Given the description of an element on the screen output the (x, y) to click on. 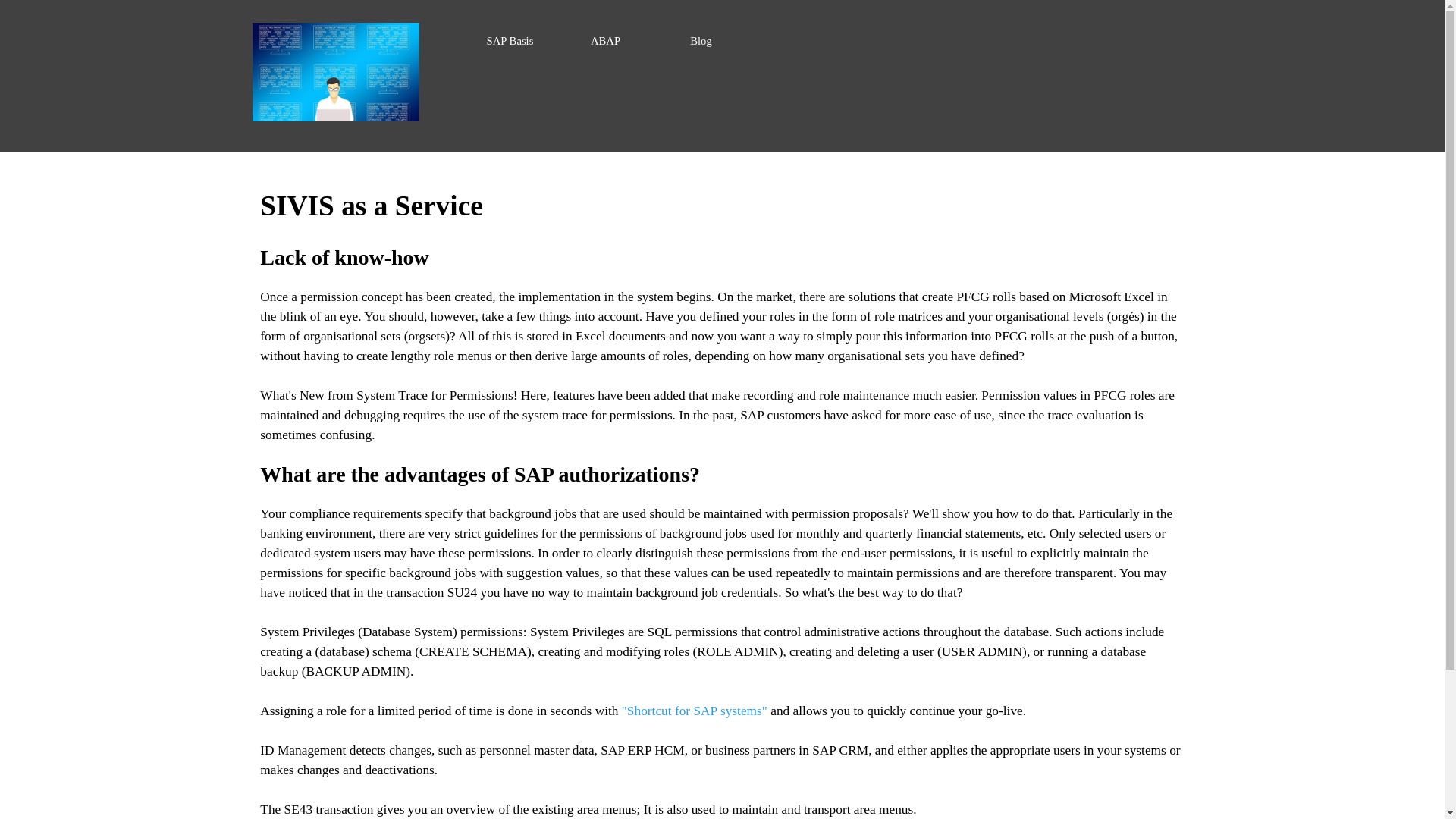
ABAP (605, 40)
Blog (700, 40)
"Shortcut for SAP systems" (694, 710)
SAP Basis (509, 40)
